Given the description of an element on the screen output the (x, y) to click on. 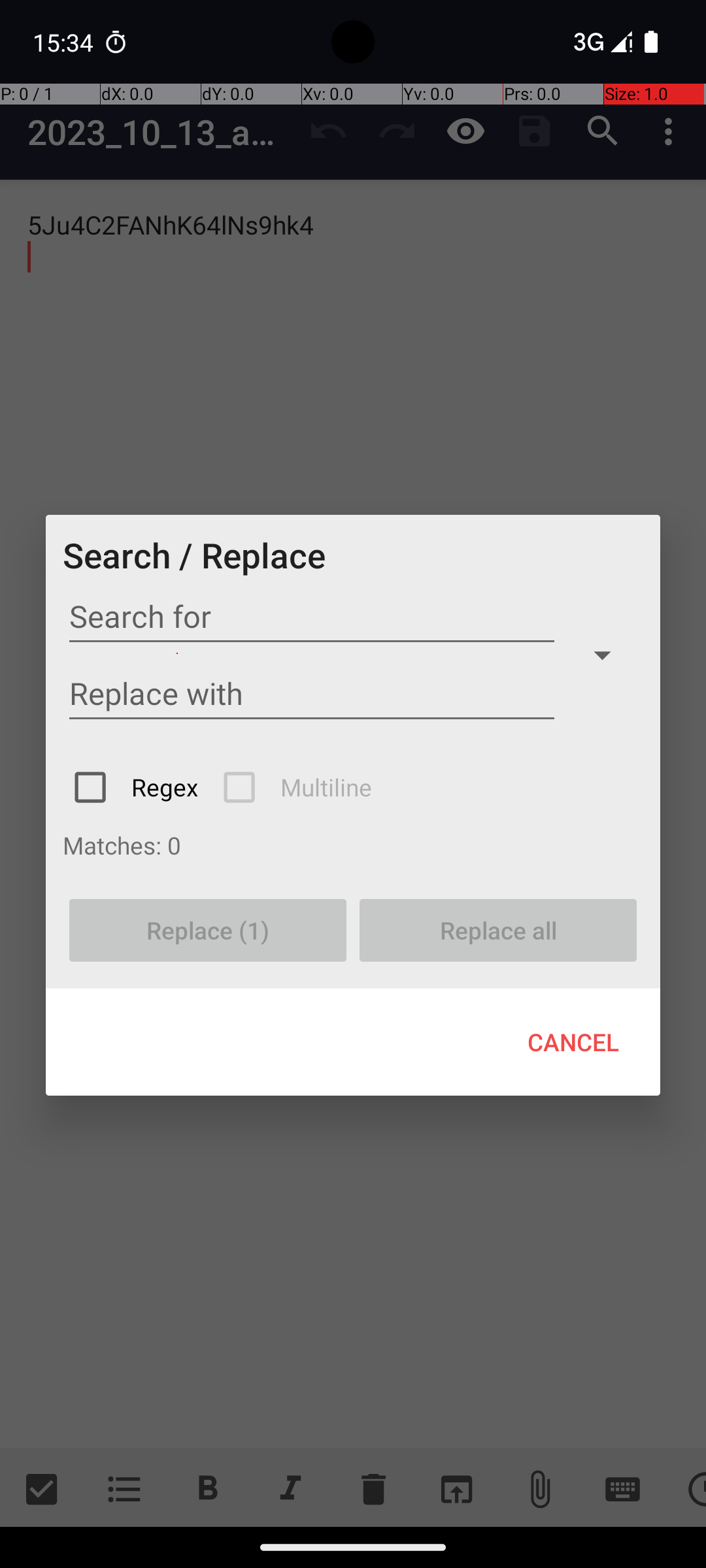
Search / Replace Element type: android.widget.TextView (193, 554)
Search for Element type: android.widget.EditText (311, 616)
Replace with Element type: android.widget.EditText (311, 693)
Regex Element type: android.widget.CheckBox (136, 786)
Multiline Element type: android.widget.CheckBox (298, 786)
Matches: 0 Element type: android.widget.TextView (352, 844)
Replace (1) Element type: android.widget.Button (207, 930)
Replace all Element type: android.widget.Button (498, 930)
